Given the description of an element on the screen output the (x, y) to click on. 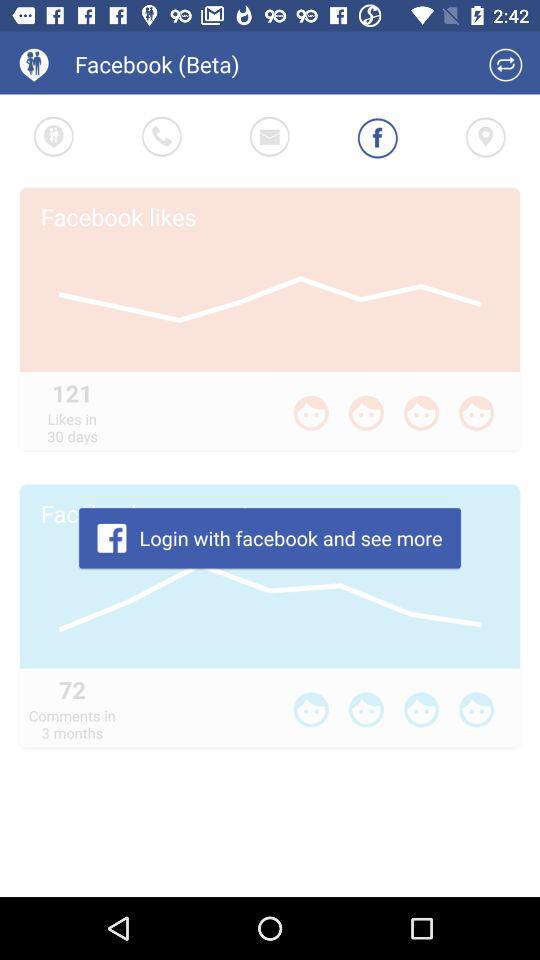
switch to regular facebook (505, 64)
